Given the description of an element on the screen output the (x, y) to click on. 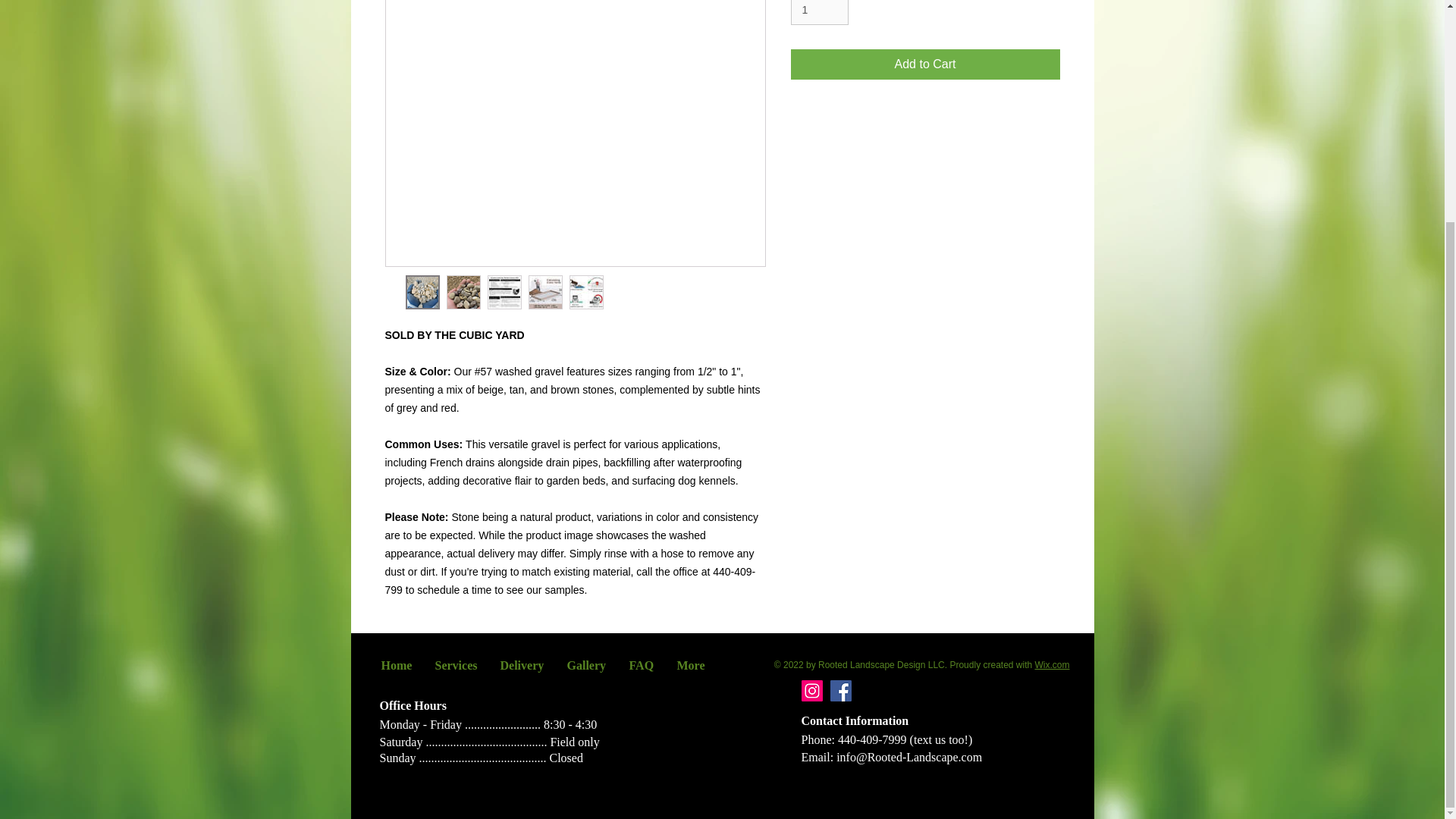
Wix.com (1050, 665)
Services (455, 665)
1 (818, 12)
Gallery (585, 665)
Add to Cart (924, 64)
Delivery (520, 665)
Home (396, 665)
FAQ (641, 665)
